Given the description of an element on the screen output the (x, y) to click on. 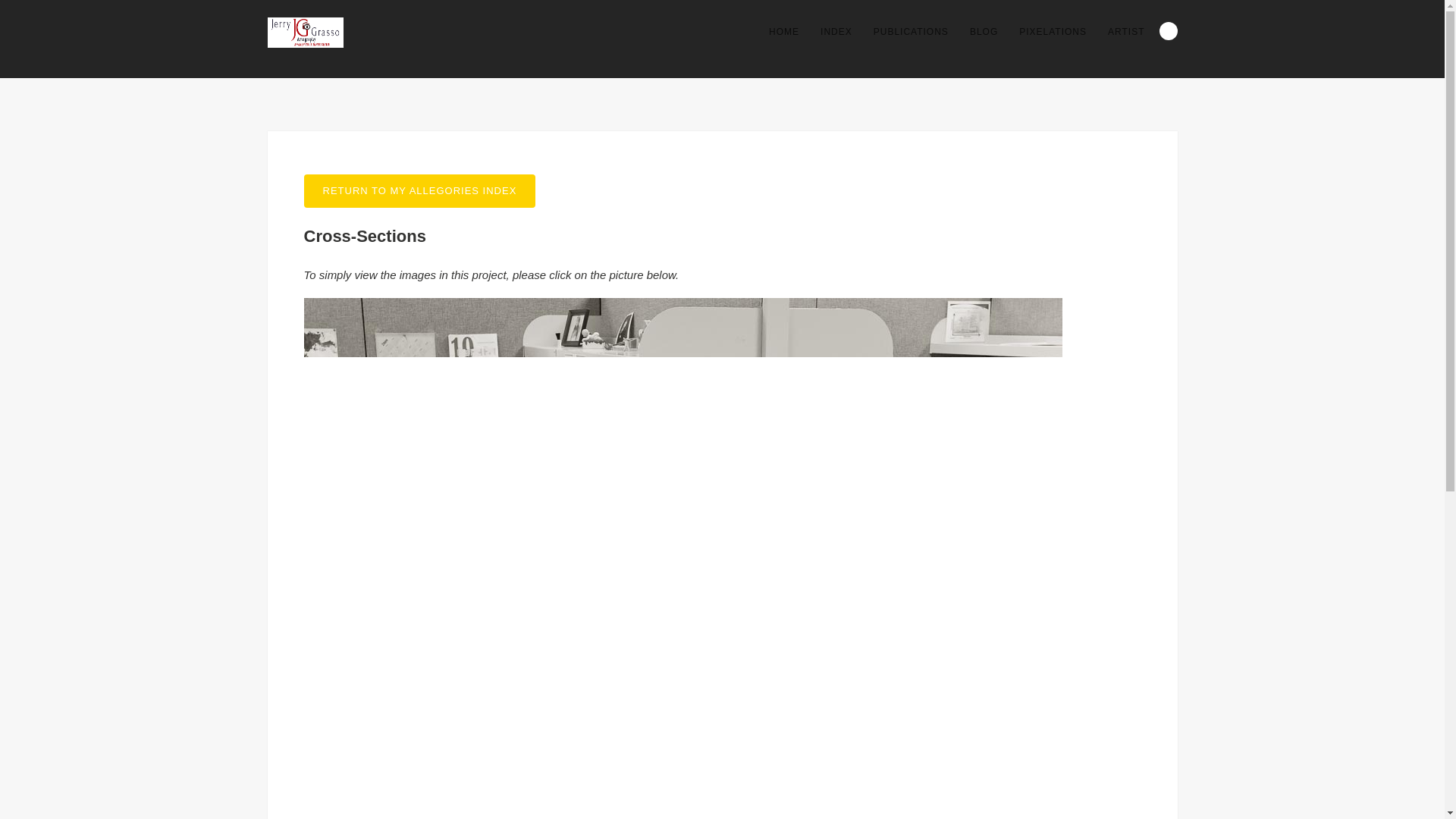
PUBLICATIONS (911, 31)
PIXELATIONS (1053, 31)
BLOG (984, 31)
Cross-Sections: The Cogs In The Machine (681, 793)
HOME (783, 31)
RETURN TO MY ALLEGORIES INDEX (418, 191)
ARTIST (1125, 31)
Search (1167, 31)
INDEX (836, 31)
